Given the description of an element on the screen output the (x, y) to click on. 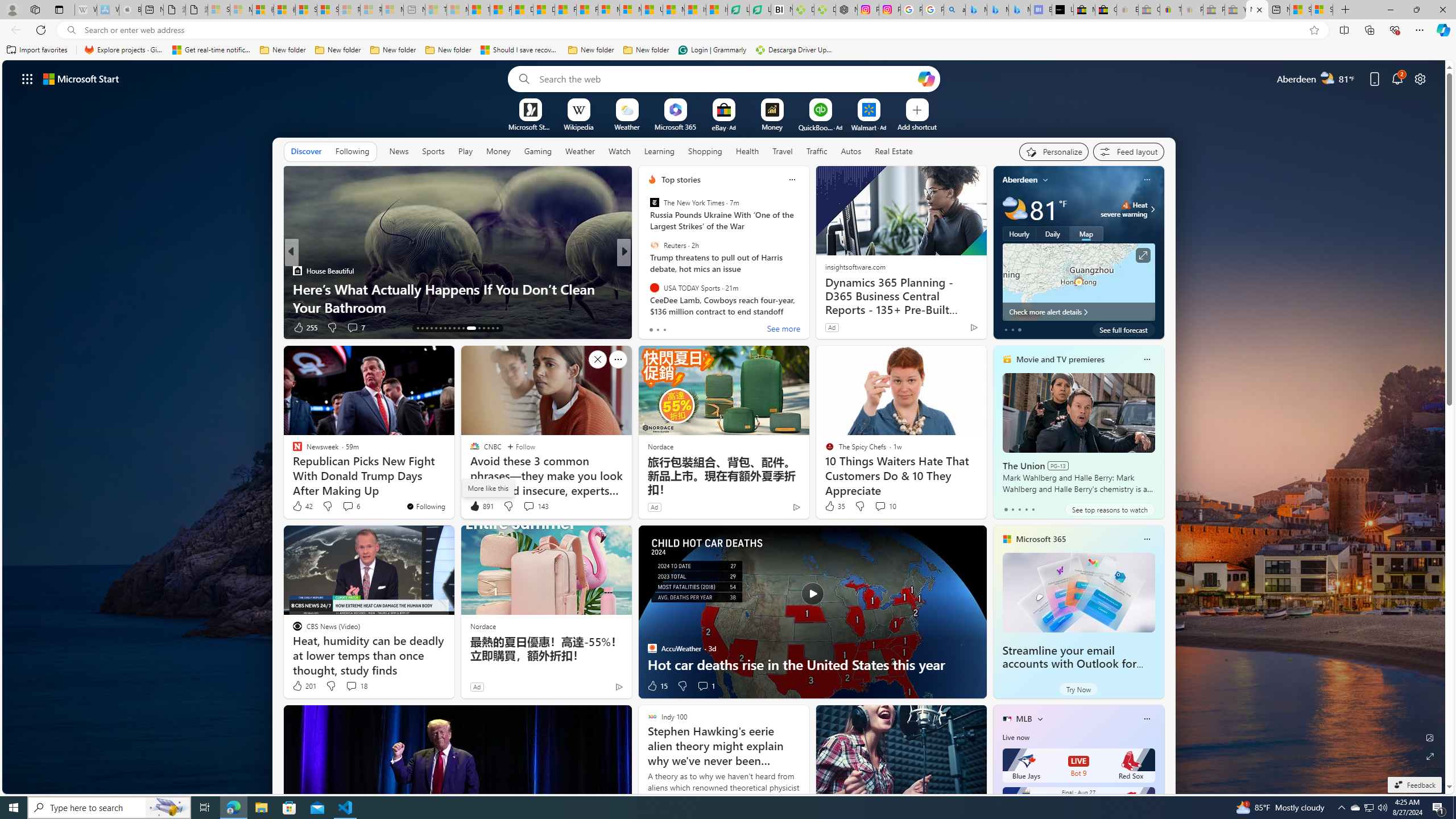
Reuters (654, 245)
AutomationID: backgroundImagePicture (723, 426)
Movie and TV premieres (1060, 359)
Foo BAR | Trusted Community Engagement and Contributions (587, 9)
Favorites bar (728, 49)
421 Like (654, 327)
House Beautiful (296, 270)
